Given the description of an element on the screen output the (x, y) to click on. 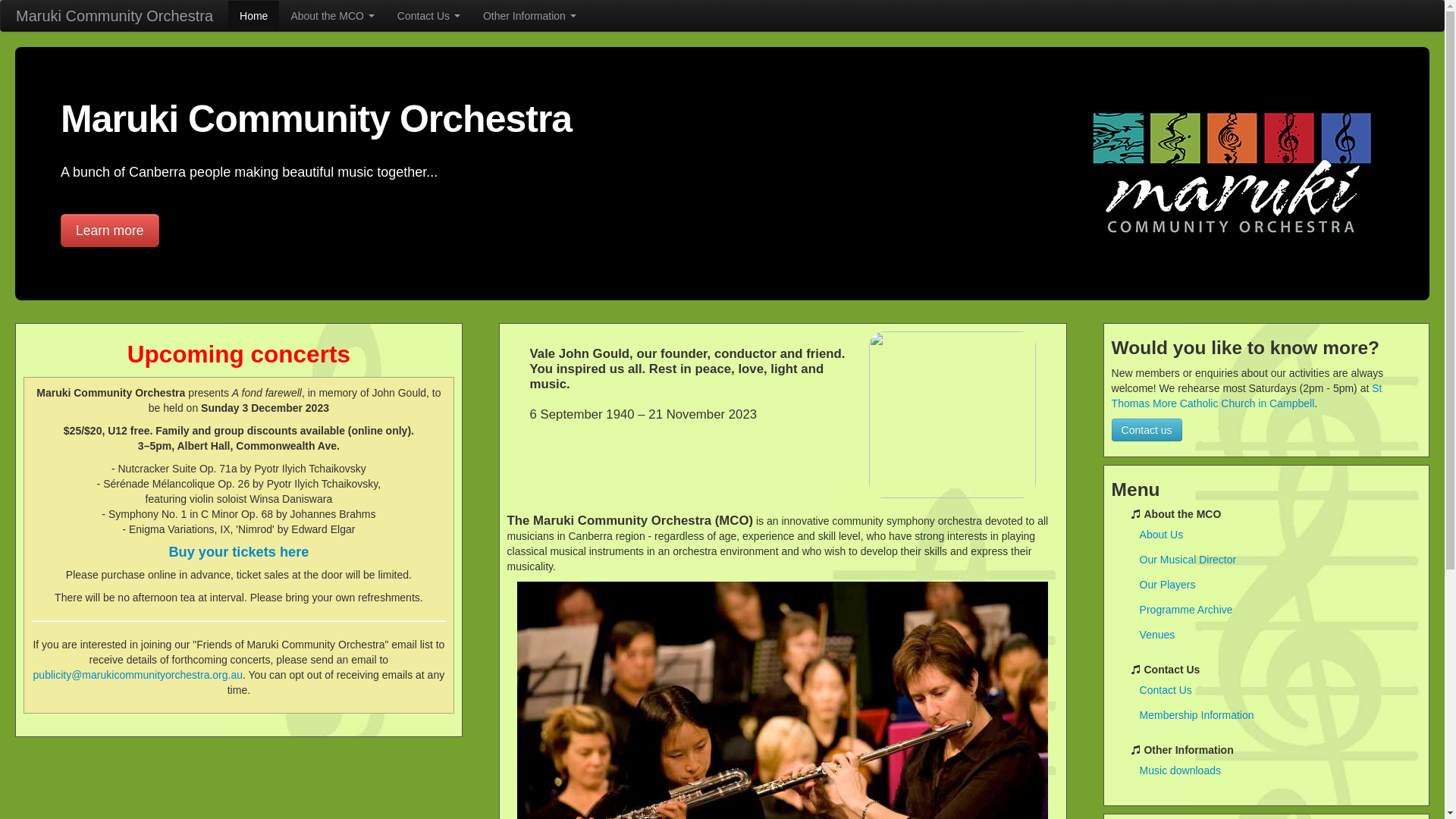
Our Musical Director Element type: text (1275, 559)
Buy your tickets here Element type: text (238, 551)
Contact us Element type: text (1146, 429)
About Us Element type: text (1275, 534)
Membership Information Element type: text (1275, 714)
Other Information Element type: text (529, 15)
Our Players Element type: text (1275, 584)
St Thomas More Catholic Church in Campbell Element type: text (1246, 395)
Venues Element type: text (1275, 634)
Home Element type: text (253, 15)
publicity@marukicommunityorchestra.org.au Element type: text (137, 674)
About the MCO Element type: text (332, 15)
Contact Us Element type: text (1275, 689)
Learn more Element type: text (109, 230)
Contact Us Element type: text (428, 15)
Music downloads Element type: text (1275, 770)
Programme Archive Element type: text (1275, 609)
Maruki Community Orchestra Element type: text (114, 15)
